Given the description of an element on the screen output the (x, y) to click on. 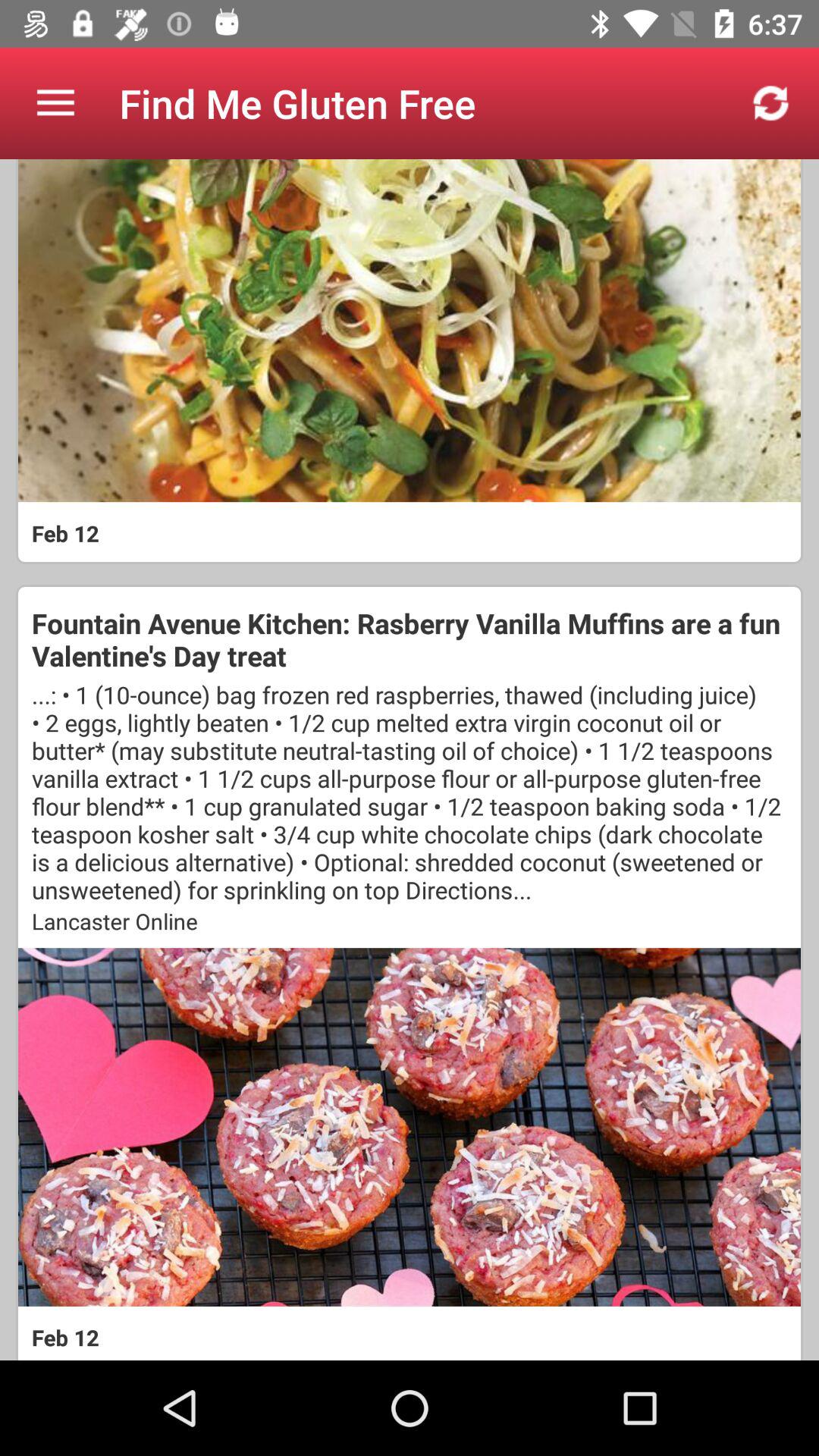
launch the item above lancaster online (409, 792)
